Given the description of an element on the screen output the (x, y) to click on. 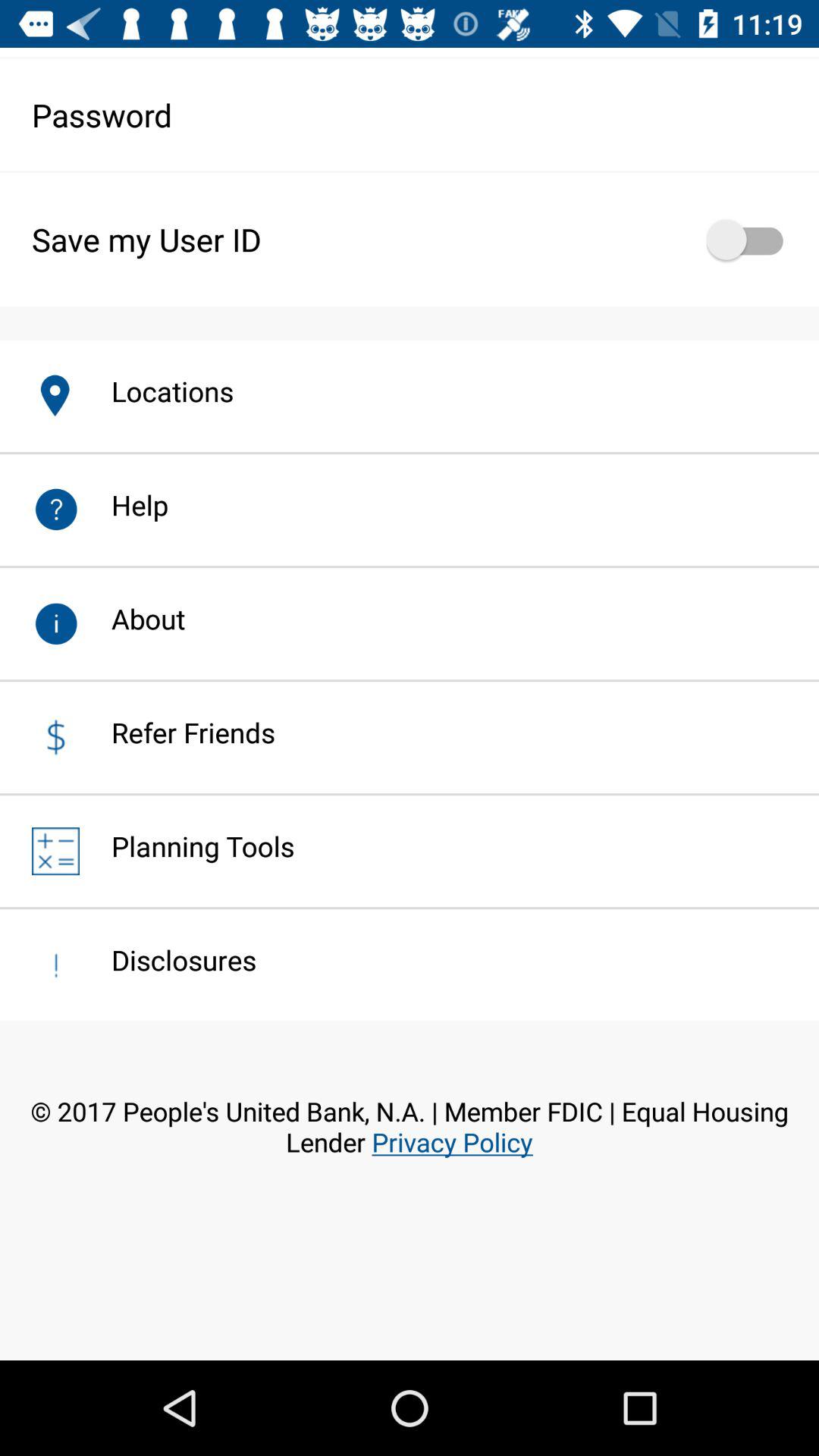
flip to planning tools icon (186, 846)
